Given the description of an element on the screen output the (x, y) to click on. 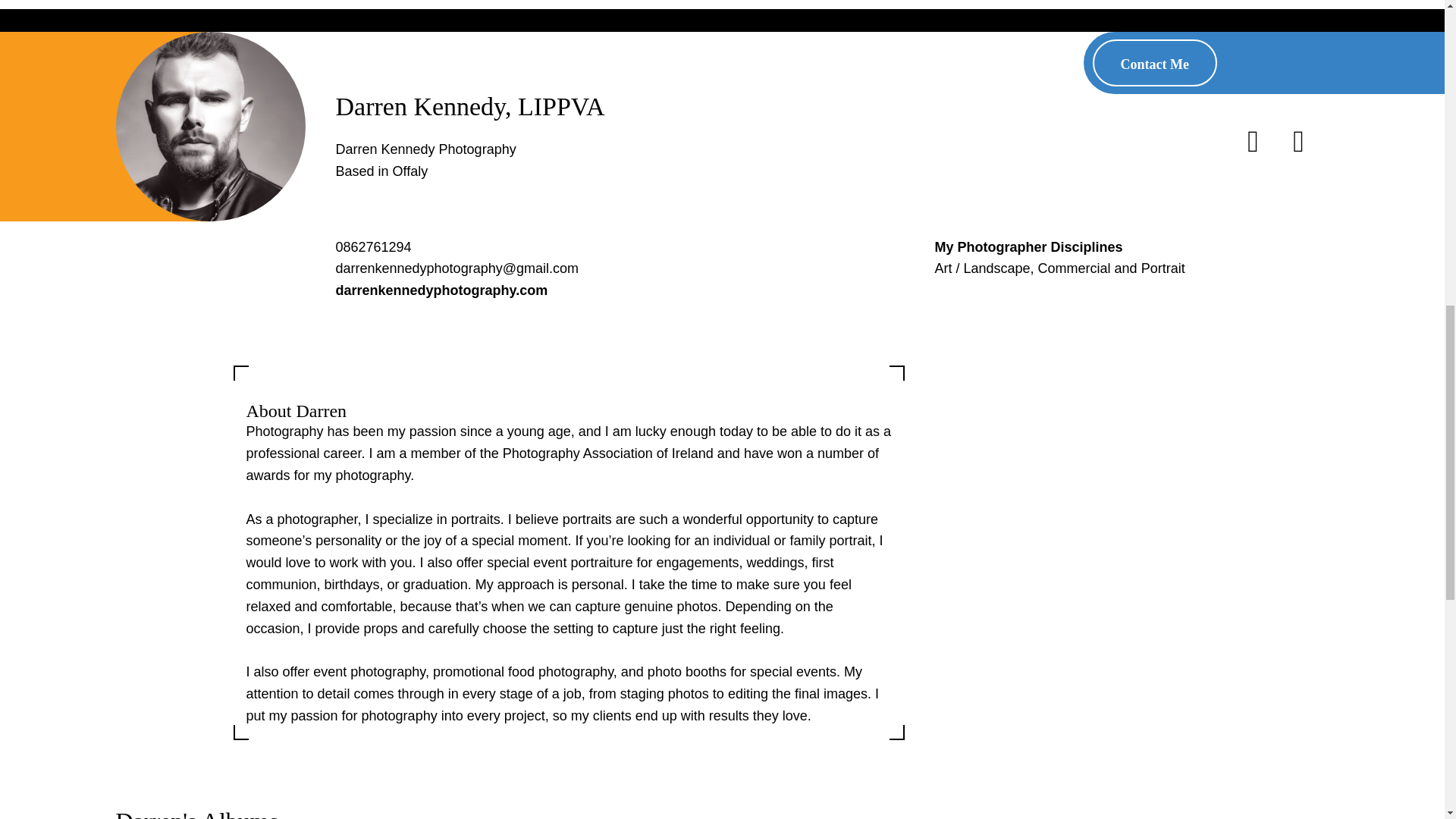
Contact Me (1155, 62)
0862761294 (372, 246)
darrenkennedyphotography.com (440, 290)
